Given the description of an element on the screen output the (x, y) to click on. 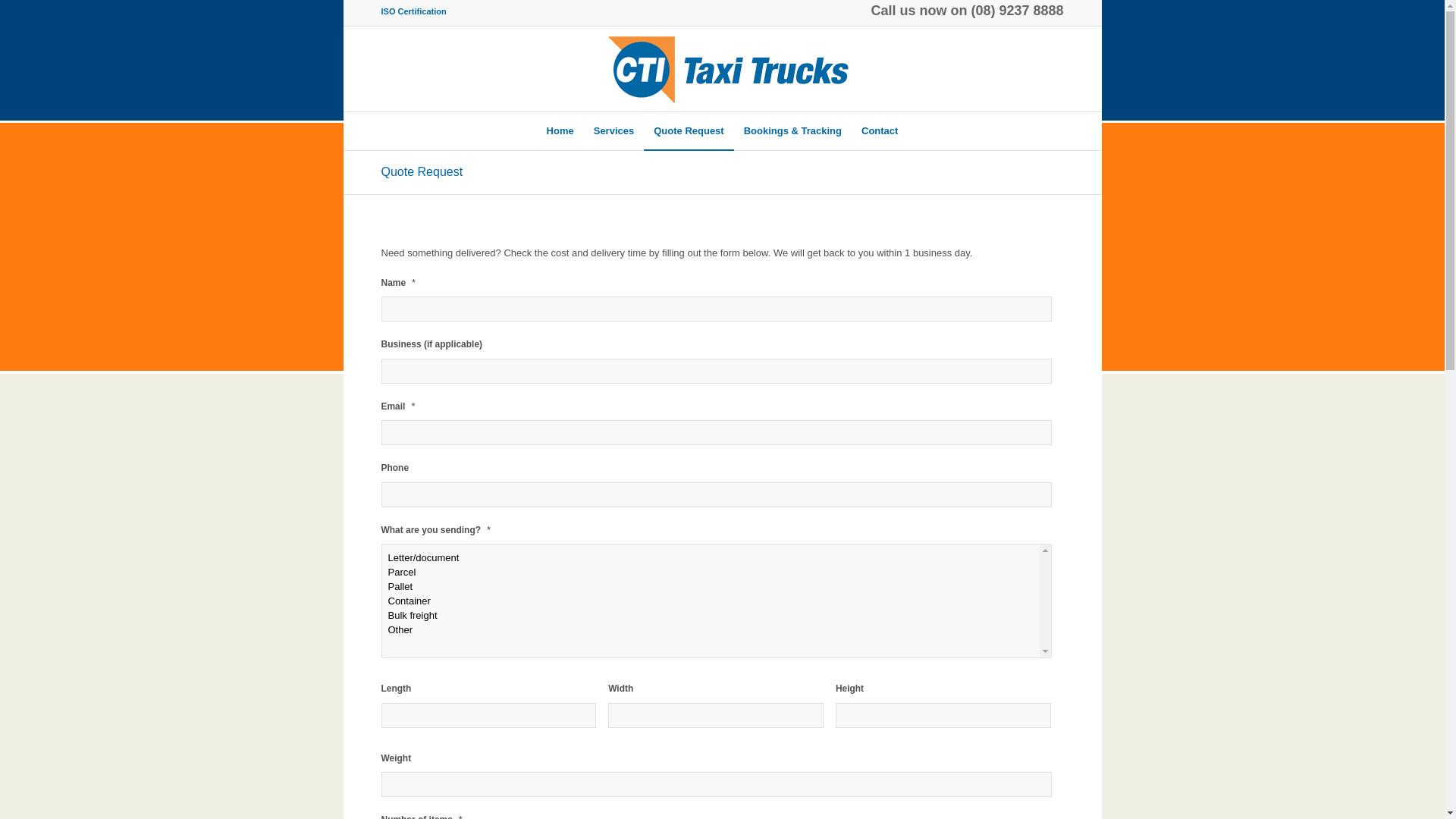
Contact Element type: text (879, 131)
Services Element type: text (613, 131)
Quote Request Element type: text (421, 171)
Bookings & Tracking Element type: text (792, 131)
ISO Certification Element type: text (412, 11)
Quote Request Element type: text (688, 131)
Home Element type: text (559, 131)
